Given the description of an element on the screen output the (x, y) to click on. 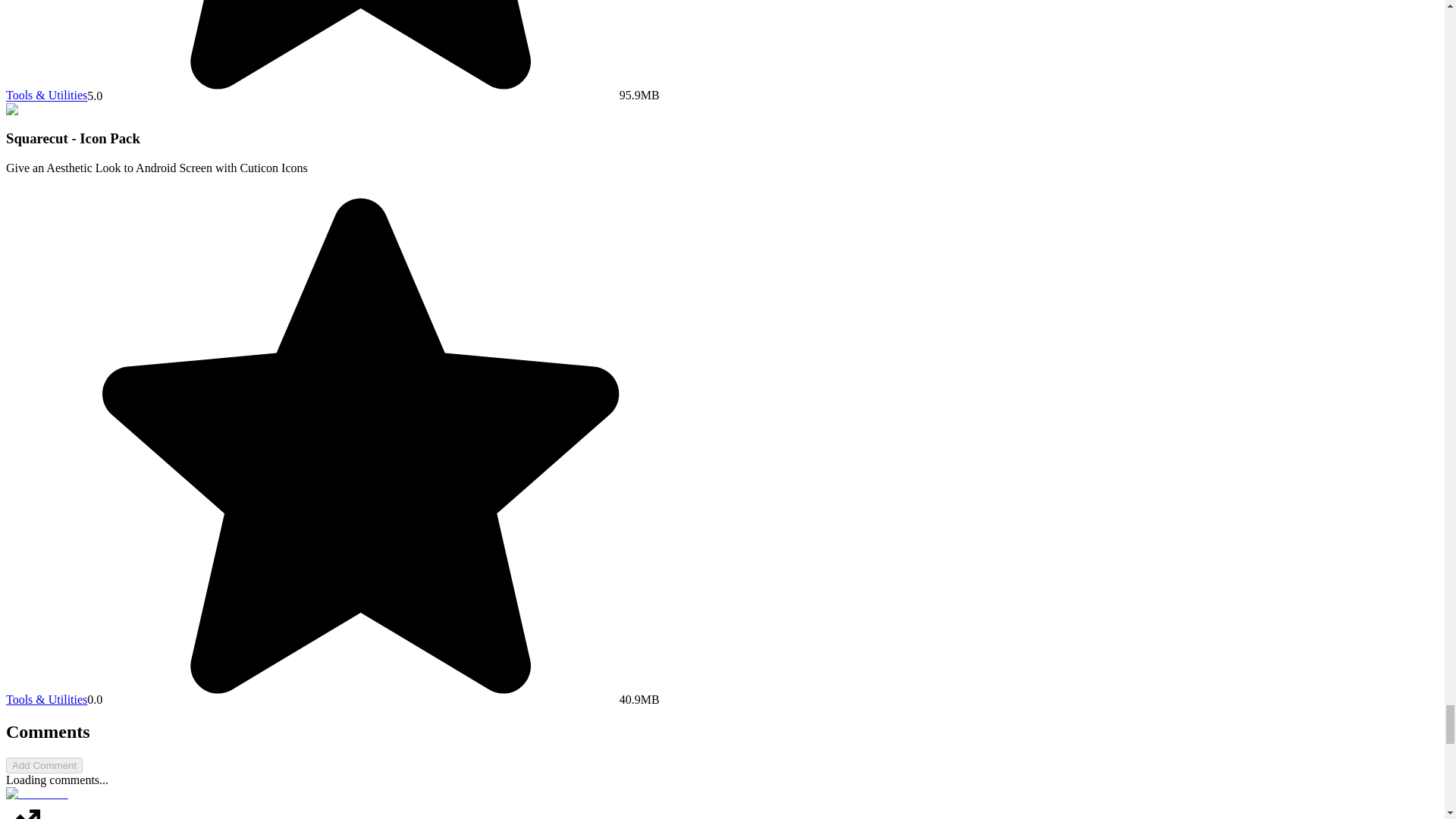
Add Comment (43, 765)
